Given the description of an element on the screen output the (x, y) to click on. 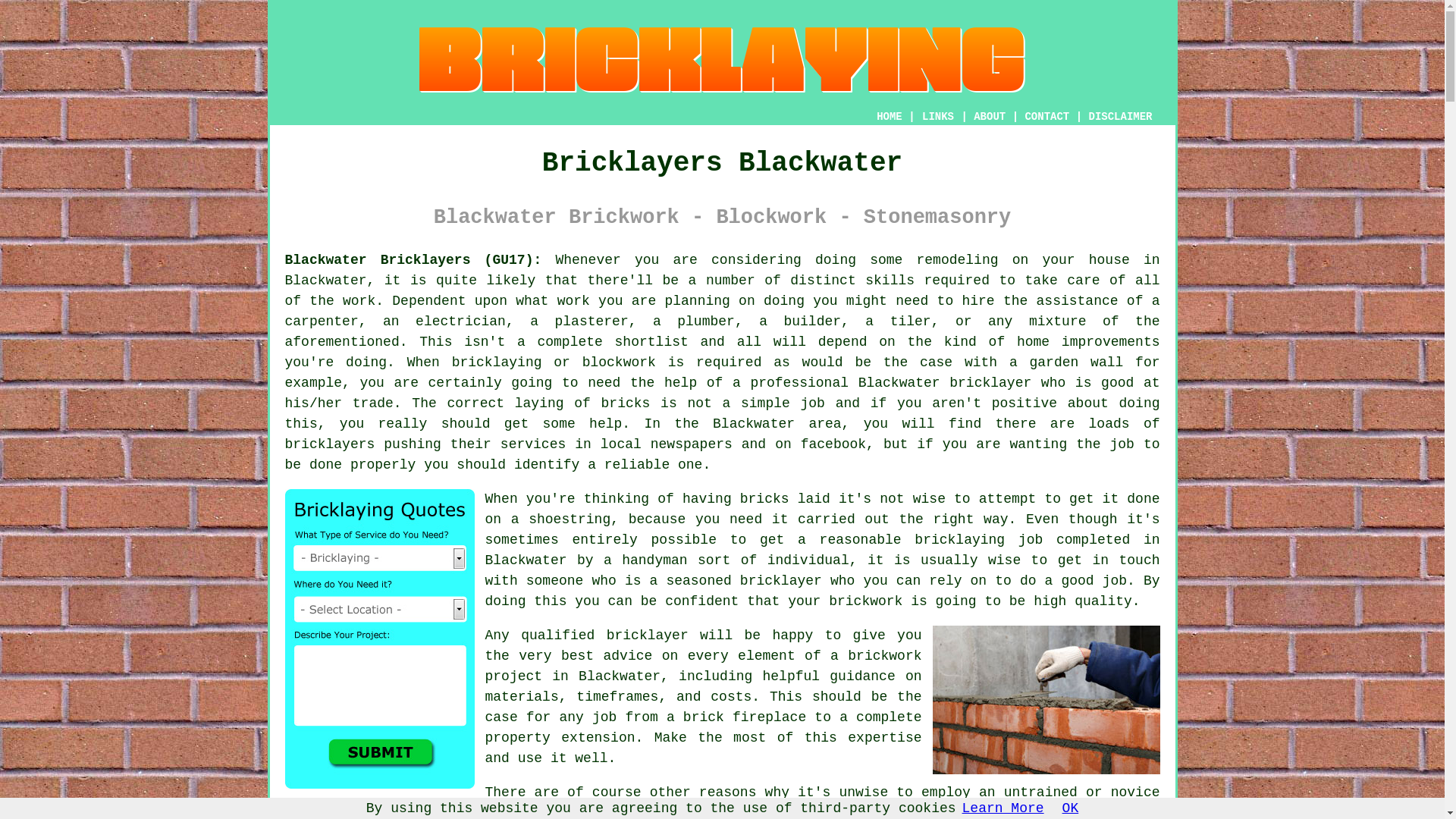
Bricklayers Blackwater - Brickery (721, 60)
bricklayer (780, 580)
Free Blackwater Bricklaying Quotes (379, 638)
Bricklayers Blackwater Hampshire (1046, 699)
LINKS (938, 116)
HOME (889, 116)
